Given the description of an element on the screen output the (x, y) to click on. 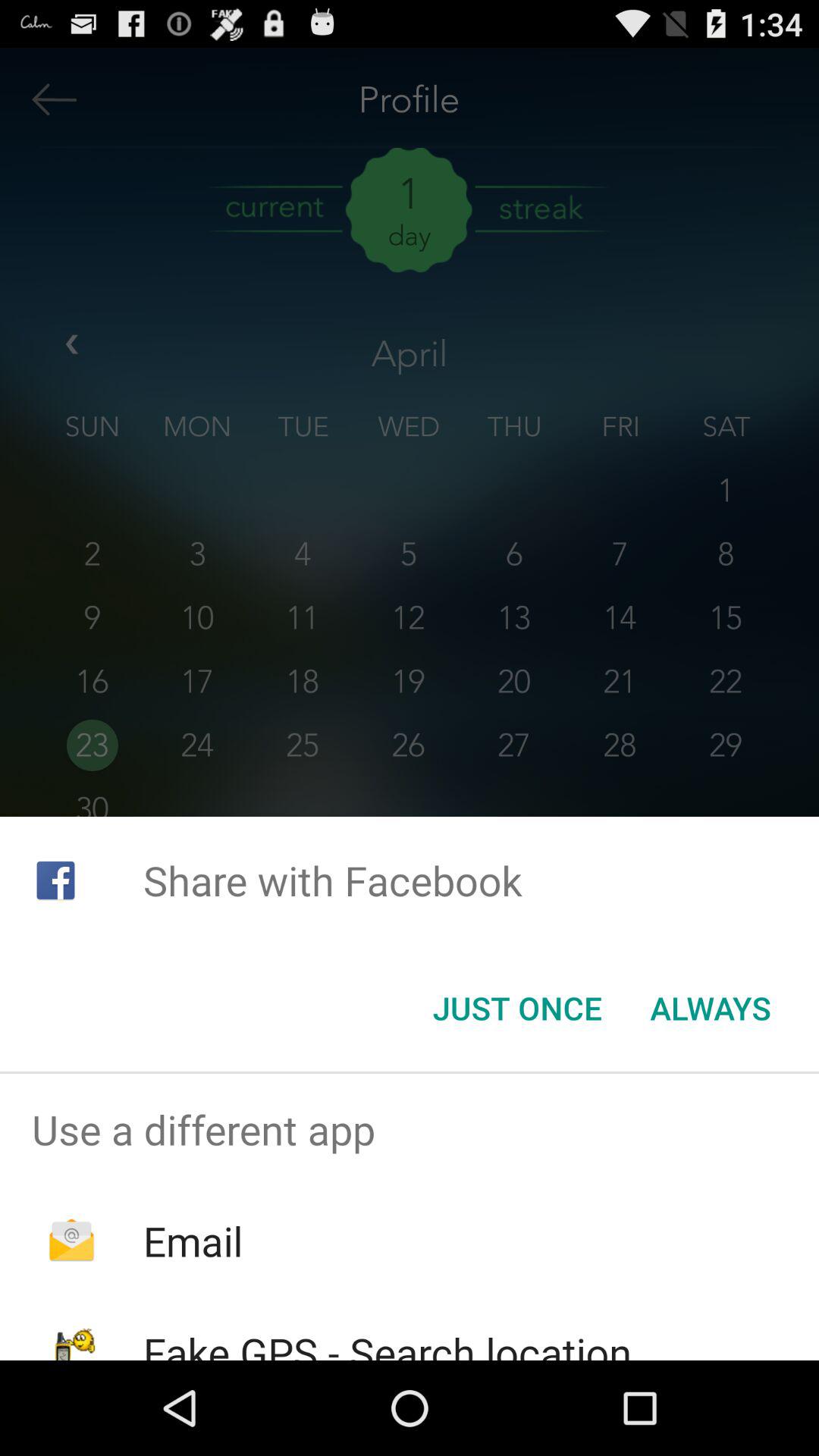
open the icon at the bottom right corner (710, 1007)
